Given the description of an element on the screen output the (x, y) to click on. 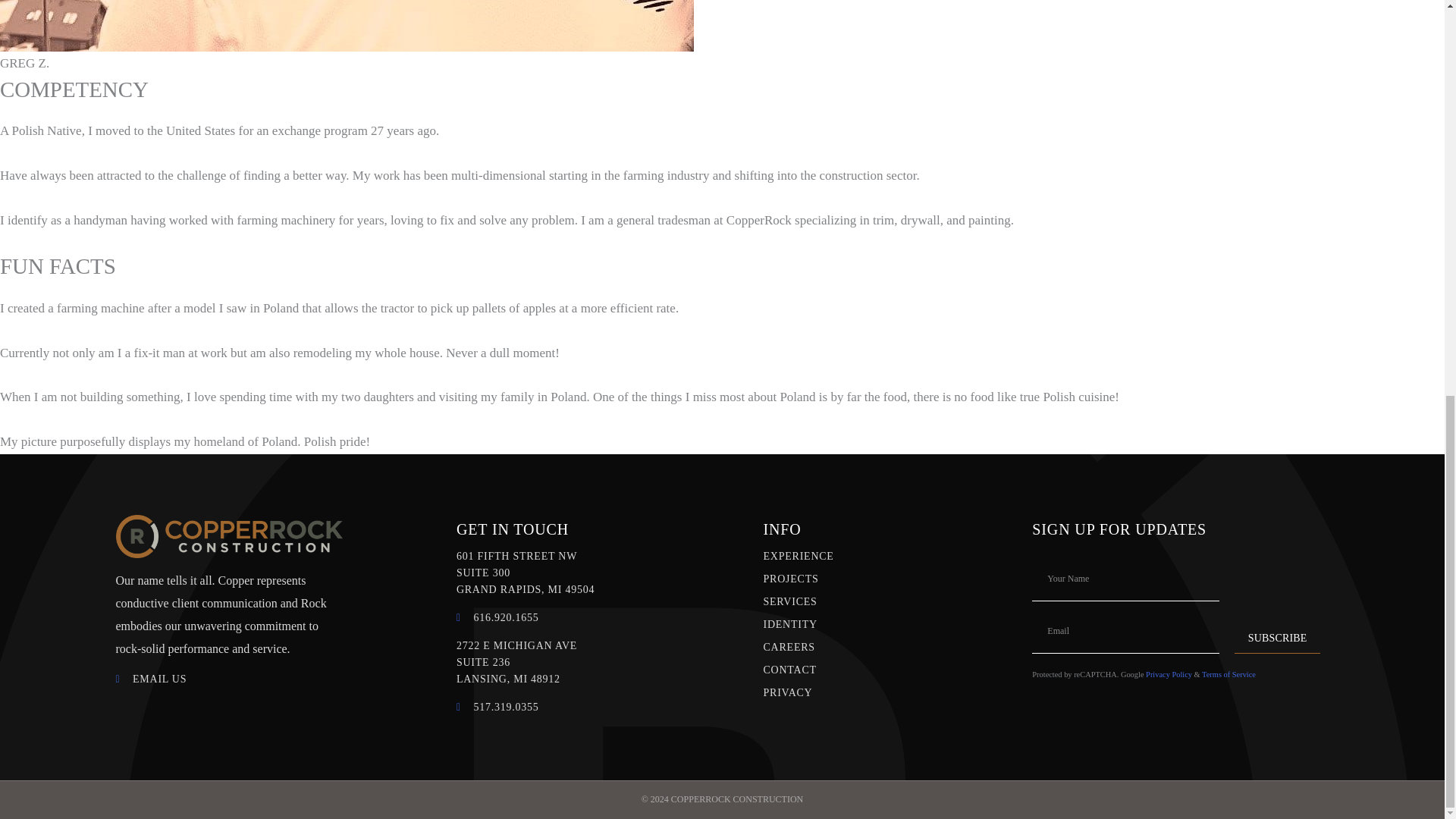
EMAIL US (228, 678)
